Given the description of an element on the screen output the (x, y) to click on. 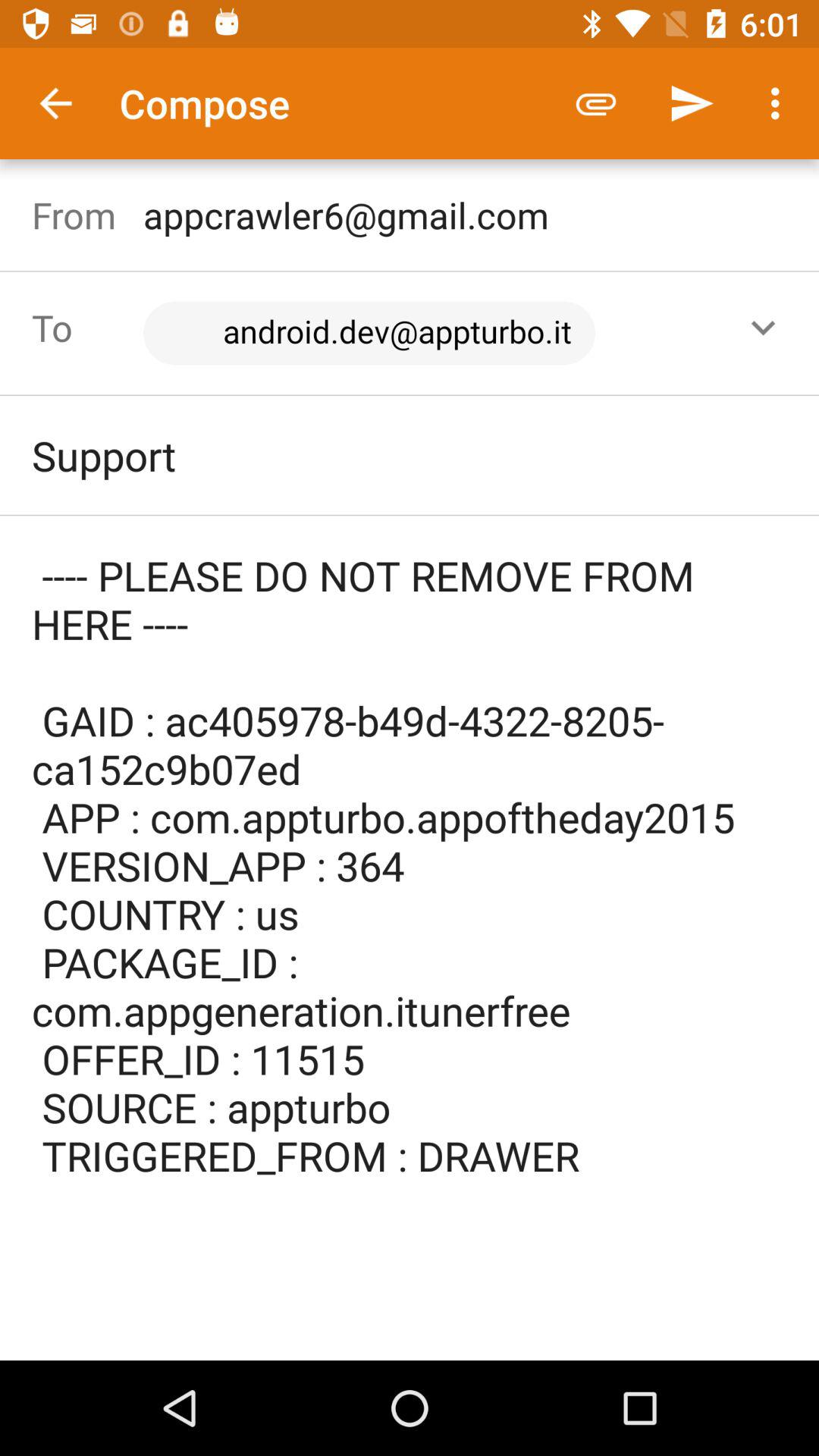
turn on the icon below the please do not (409, 1311)
